Given the description of an element on the screen output the (x, y) to click on. 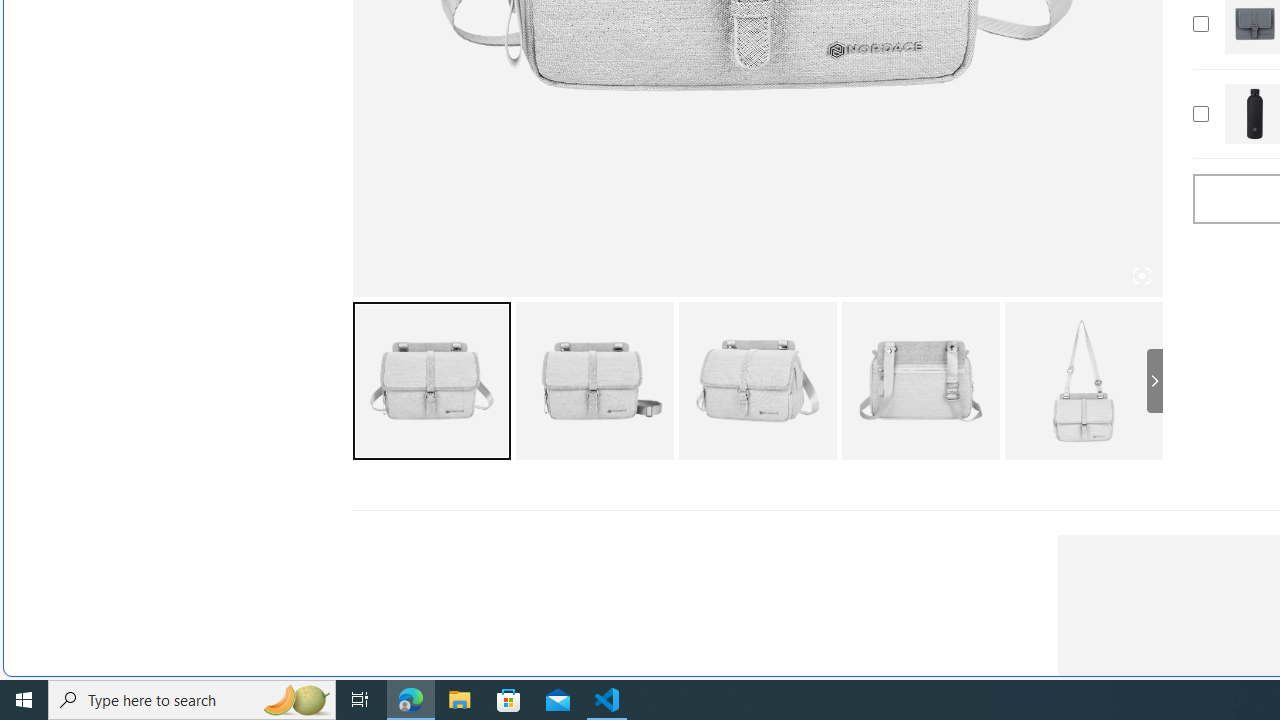
Class: iconic-woothumbs-fullscreen (1140, 276)
Add this product to cart (1200, 114)
